Given the description of an element on the screen output the (x, y) to click on. 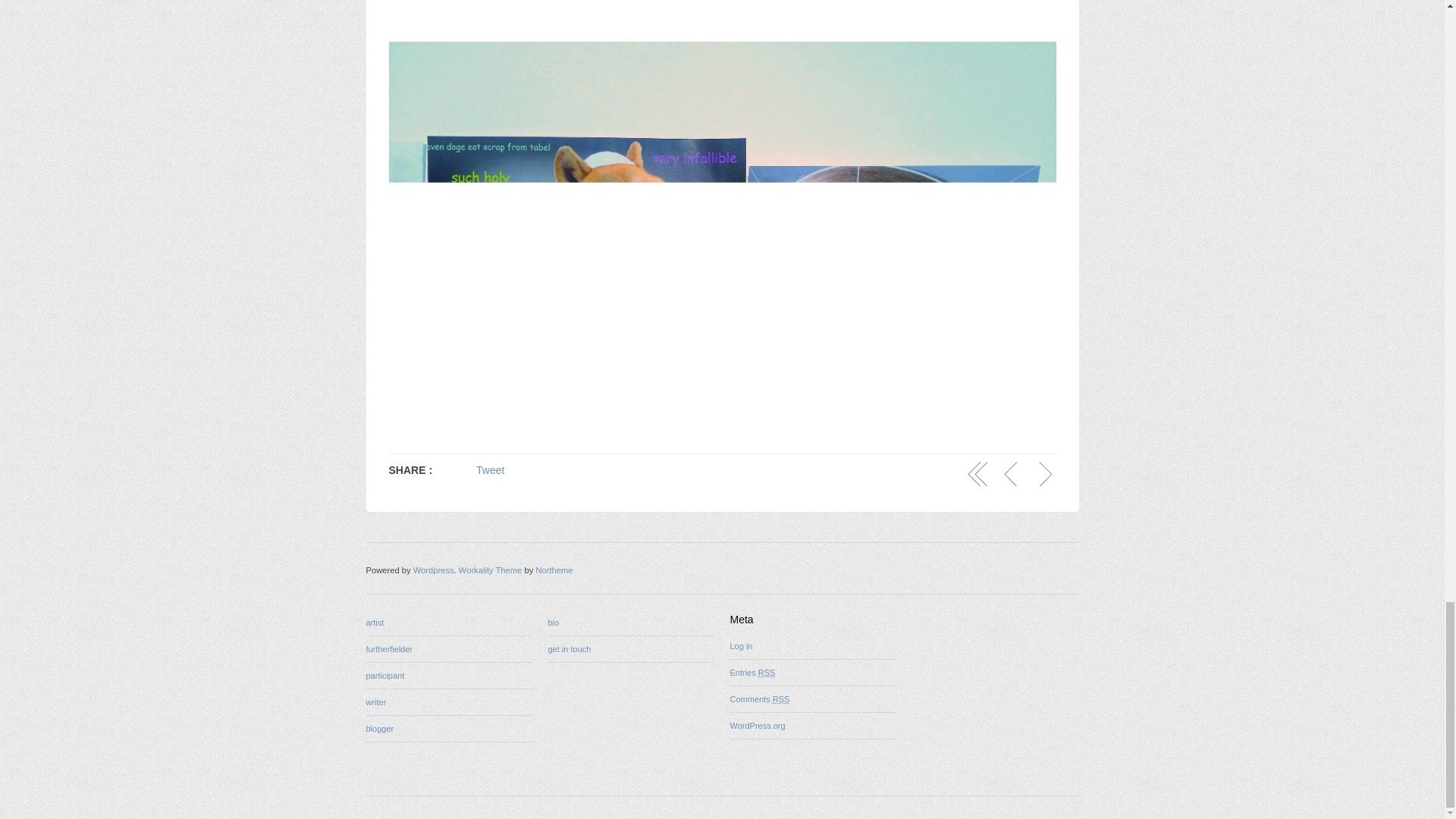
Comments RSS (759, 698)
Art and the Blockchain (1043, 473)
blogger (379, 728)
Entries RSS (751, 672)
Northeme (553, 569)
WordPress.org (756, 725)
All Projects (978, 473)
Really Simple Syndication (767, 672)
artist (374, 622)
